Given the description of an element on the screen output the (x, y) to click on. 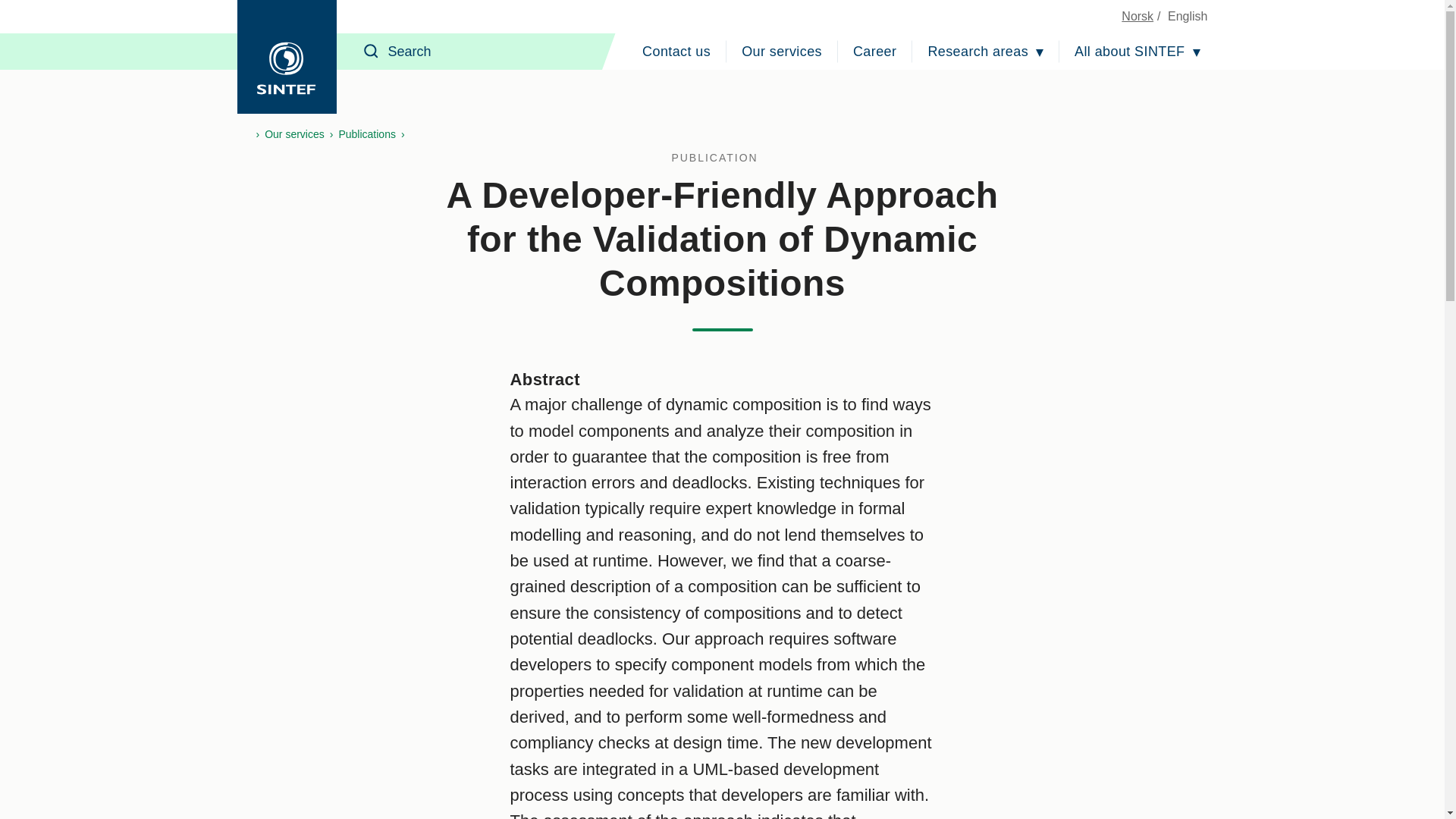
Norsk (1137, 16)
Career (874, 51)
Our services (781, 51)
All about SINTEF (1137, 51)
All publications (722, 157)
Research areas (985, 51)
Contact us (675, 51)
